Given the description of an element on the screen output the (x, y) to click on. 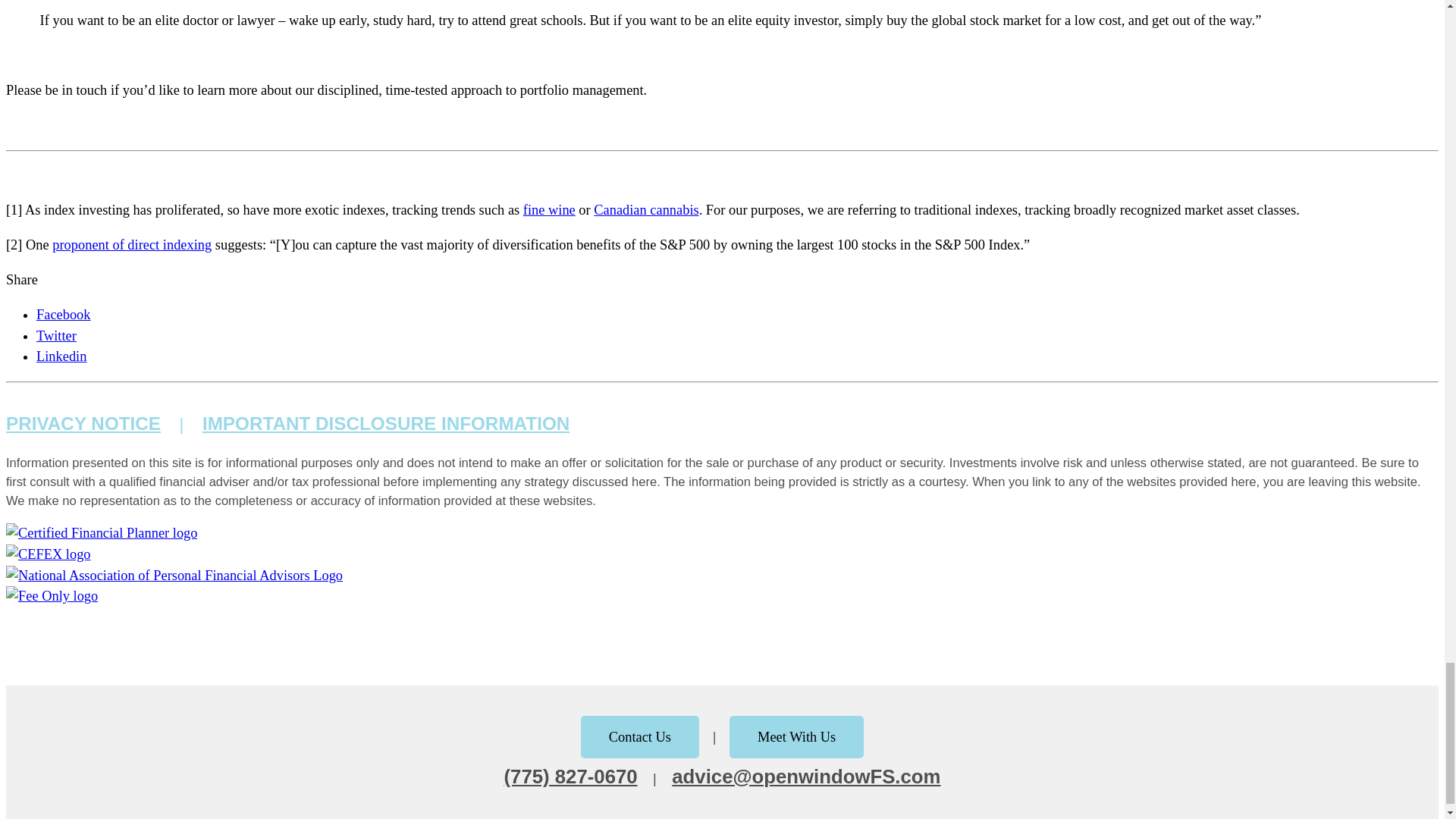
Linkedin (60, 355)
proponent of direct indexing (131, 244)
Twitter (56, 335)
IMPORTANT DISCLOSURE INFORMATION (385, 423)
Facebook (63, 314)
fine wine (548, 209)
PRIVACY NOTICE (82, 423)
Canadian cannabis (646, 209)
